Given the description of an element on the screen output the (x, y) to click on. 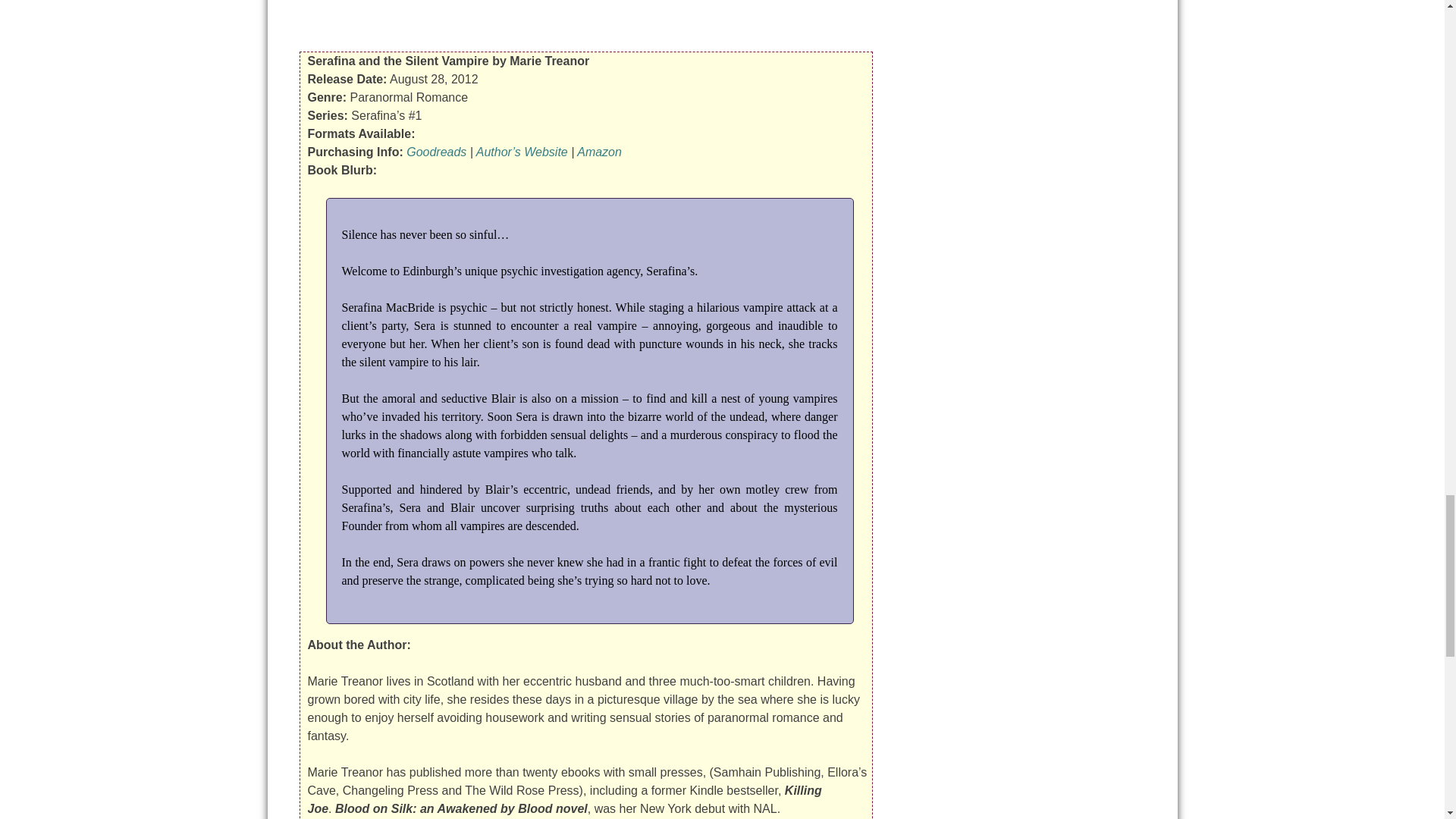
Goodreads (435, 151)
SerafinaAndTheSilentVampire (584, 16)
Amazon (598, 151)
